Given the description of an element on the screen output the (x, y) to click on. 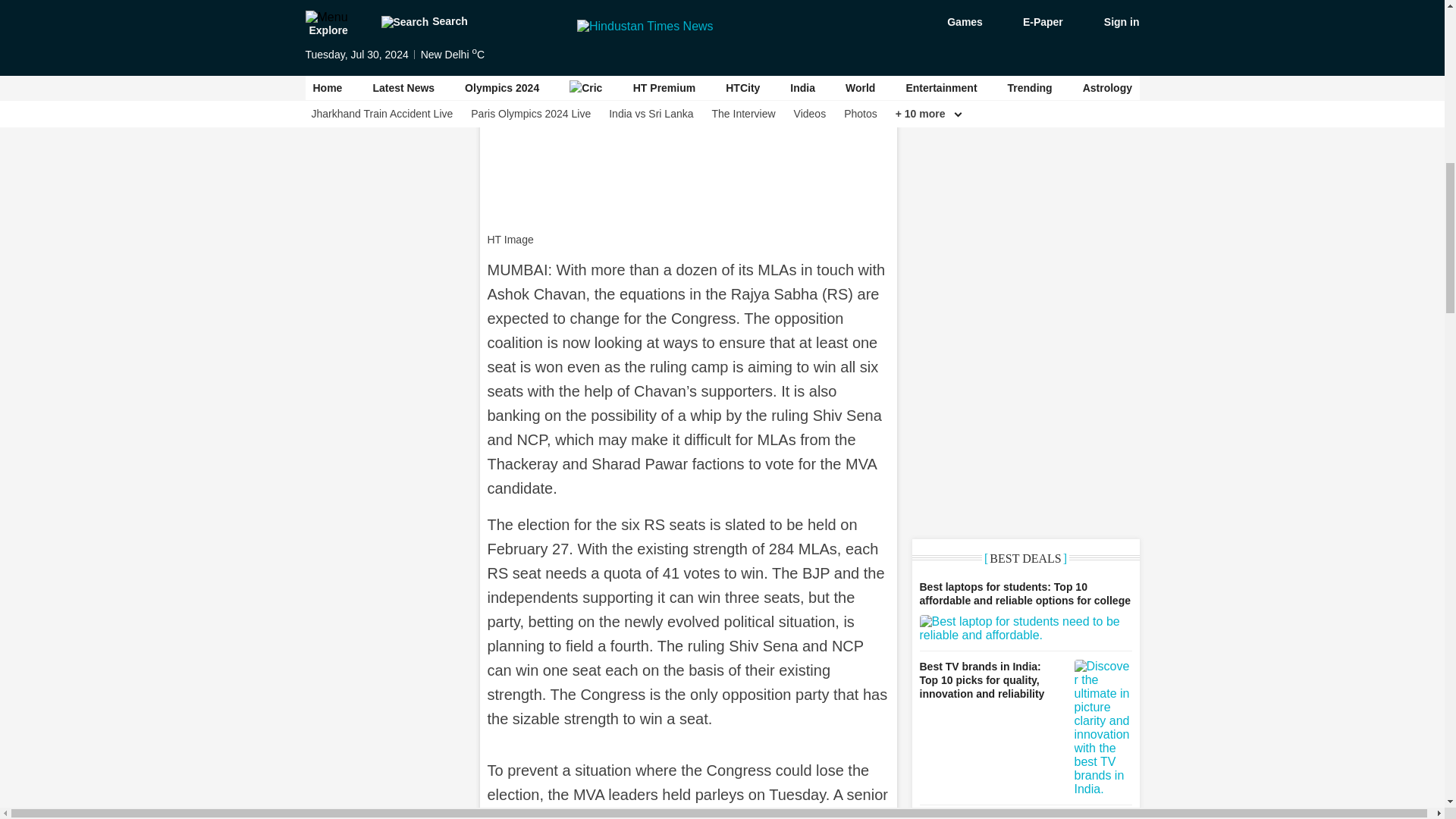
HT Image (687, 8)
